Given the description of an element on the screen output the (x, y) to click on. 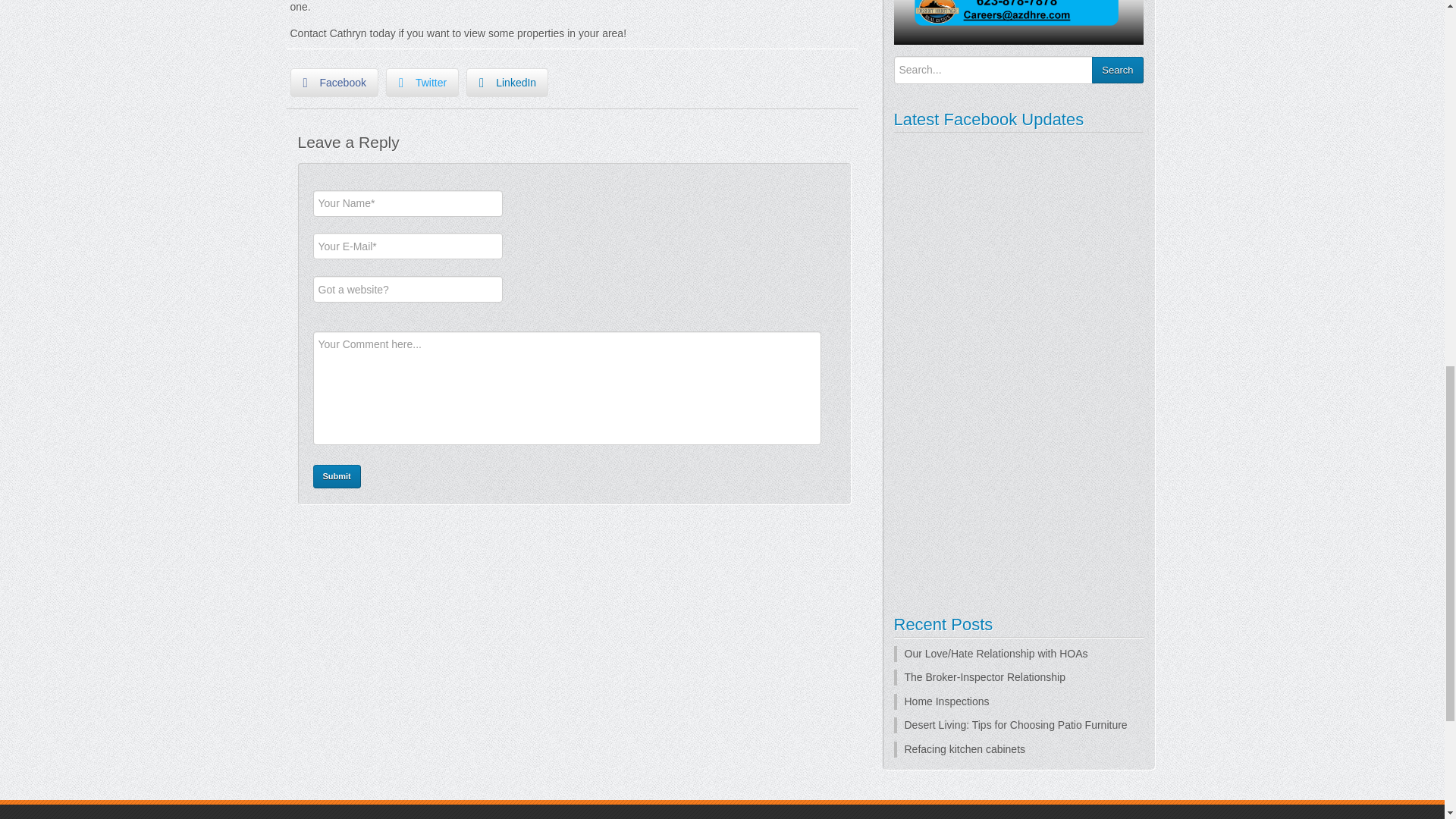
Search (1117, 69)
Search (1117, 69)
Submit (336, 476)
